Given the description of an element on the screen output the (x, y) to click on. 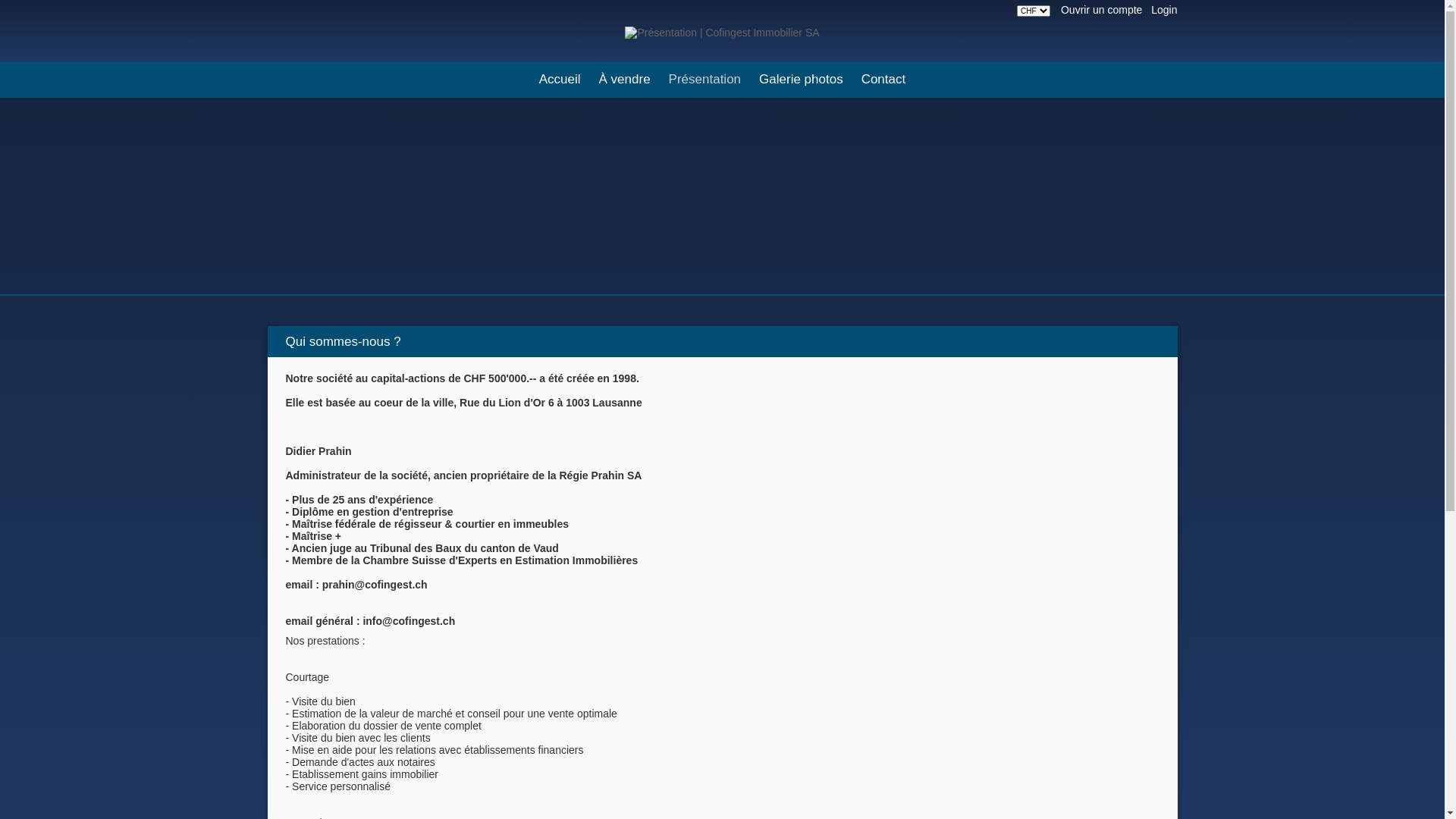
Login Element type: text (1163, 9)
Contact Element type: text (883, 79)
Ouvrir un compte Element type: text (1101, 9)
Accueil Element type: text (559, 79)
Galerie photos Element type: text (800, 79)
